Given the description of an element on the screen output the (x, y) to click on. 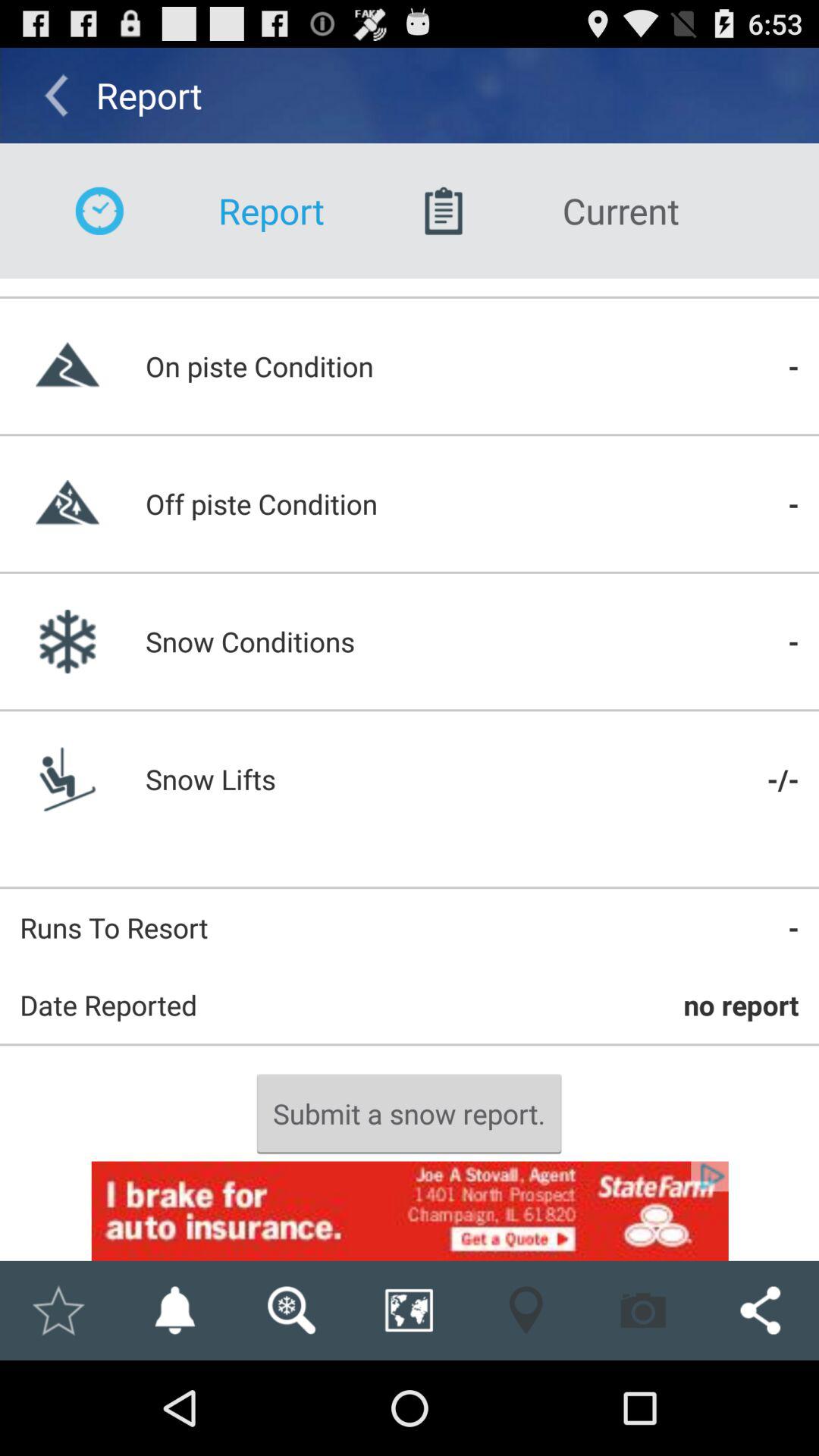
book mark (58, 1310)
